Given the description of an element on the screen output the (x, y) to click on. 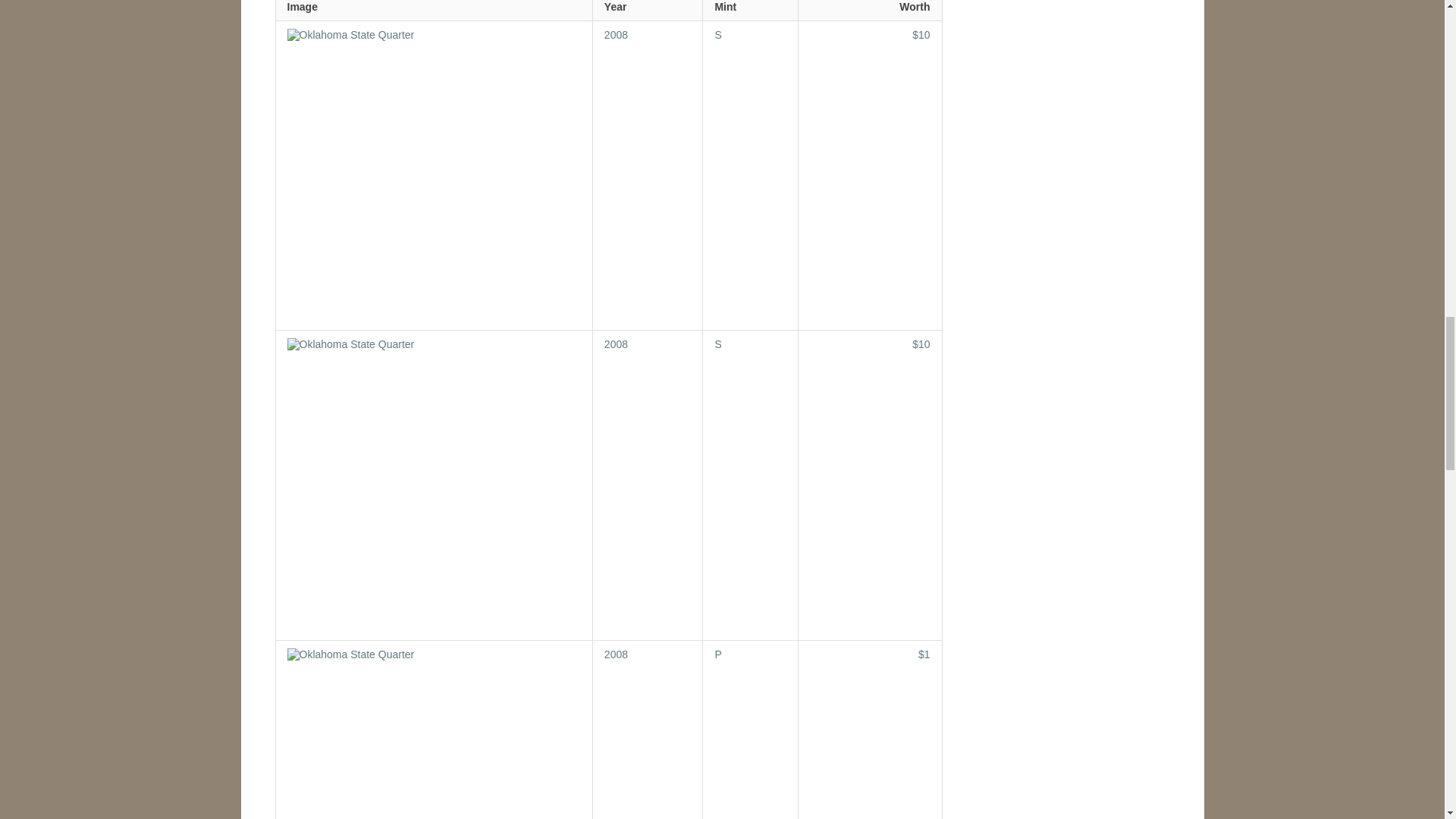
2008 S Oklahoma State Quarter (717, 344)
2008 S Oklahoma State Quarter (615, 34)
2008 S Oklahoma State Quarter (921, 34)
S (717, 344)
2008 S Oklahoma State Quarter (717, 34)
2008 S Oklahoma State Quarter (432, 175)
2008 P Oklahoma State Quarter (432, 733)
S (717, 34)
2008 (615, 344)
P (717, 654)
2008 S Oklahoma State Quarter (615, 344)
2008 P Oklahoma State Quarter (615, 654)
2008 S Oklahoma State Quarter (921, 344)
2008 (615, 34)
2008 S Oklahoma State Quarter (432, 484)
